Given the description of an element on the screen output the (x, y) to click on. 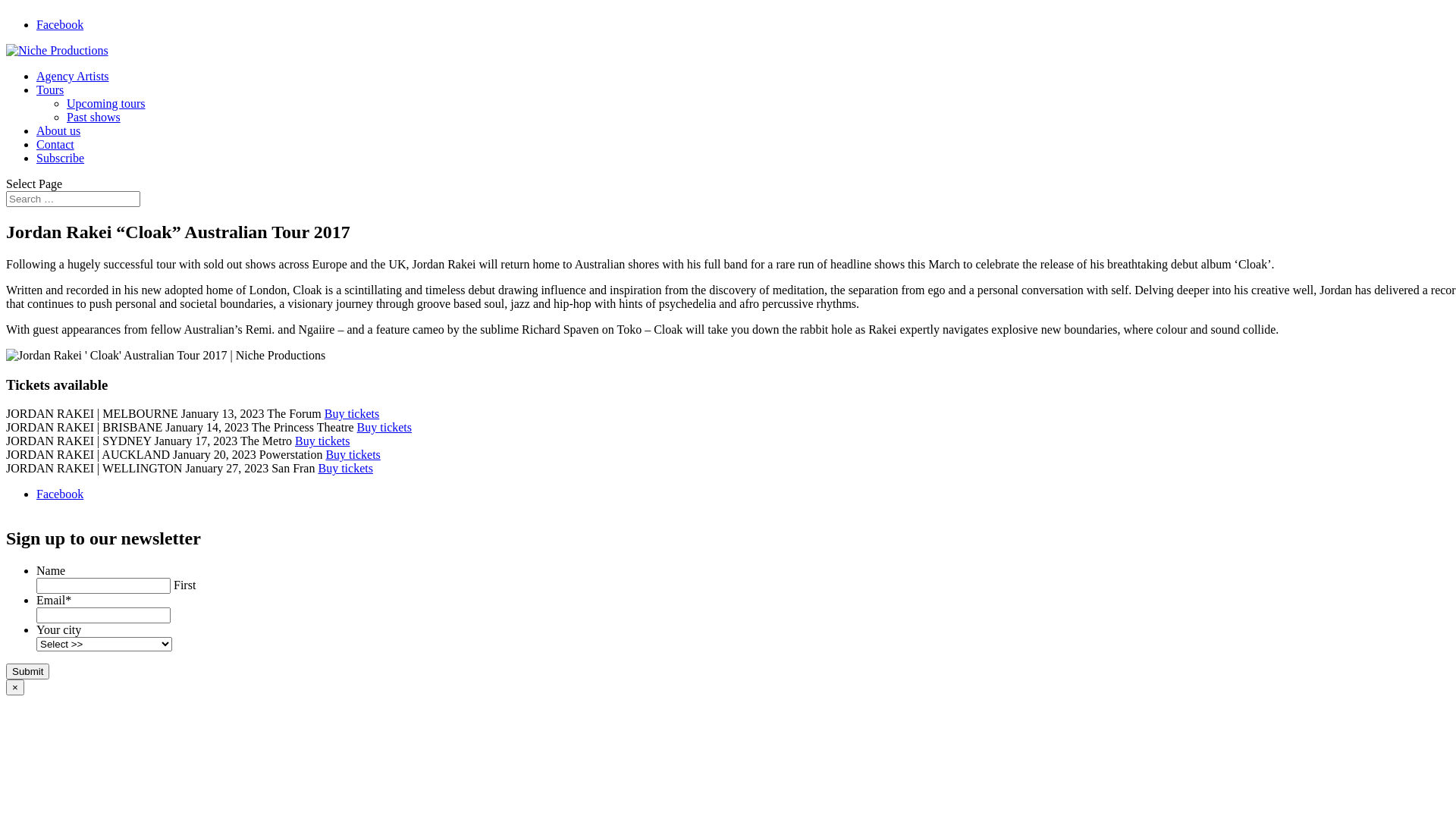
Subscribe Element type: text (60, 157)
Contact Element type: text (55, 144)
Search for: Element type: hover (73, 199)
Buy tickets Element type: text (344, 467)
Facebook Element type: text (59, 493)
Past shows Element type: text (93, 116)
About us Element type: text (58, 130)
Submit Element type: text (27, 671)
Upcoming tours Element type: text (105, 103)
Agency Artists Element type: text (72, 75)
Buy tickets Element type: text (351, 413)
Tours Element type: text (49, 89)
Buy tickets Element type: text (321, 440)
Buy tickets Element type: text (352, 454)
Buy tickets Element type: text (384, 426)
Facebook Element type: text (59, 24)
